Given the description of an element on the screen output the (x, y) to click on. 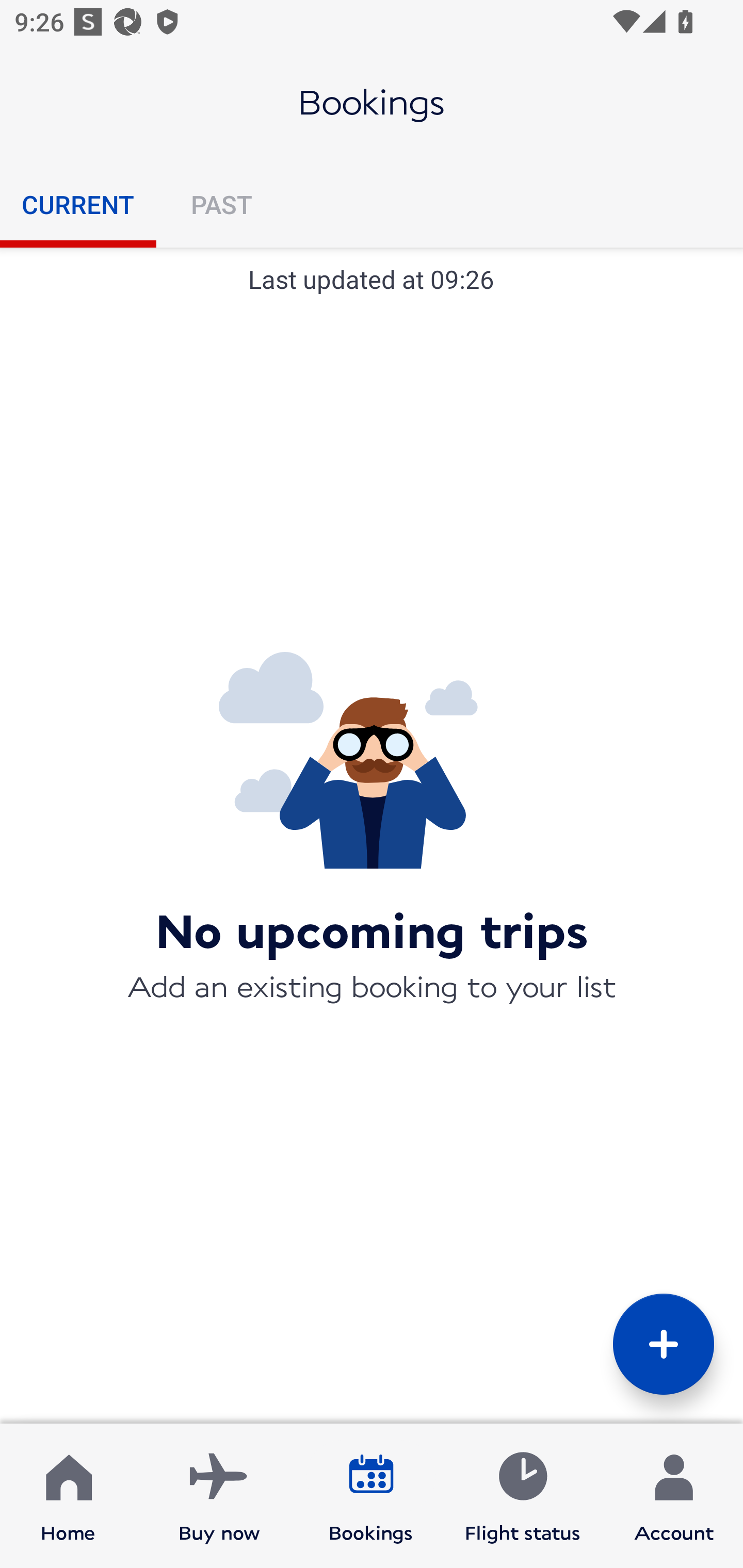
PAST (221, 204)
Home (68, 1495)
Buy now (219, 1495)
Flight status (522, 1495)
Account (674, 1495)
